Given the description of an element on the screen output the (x, y) to click on. 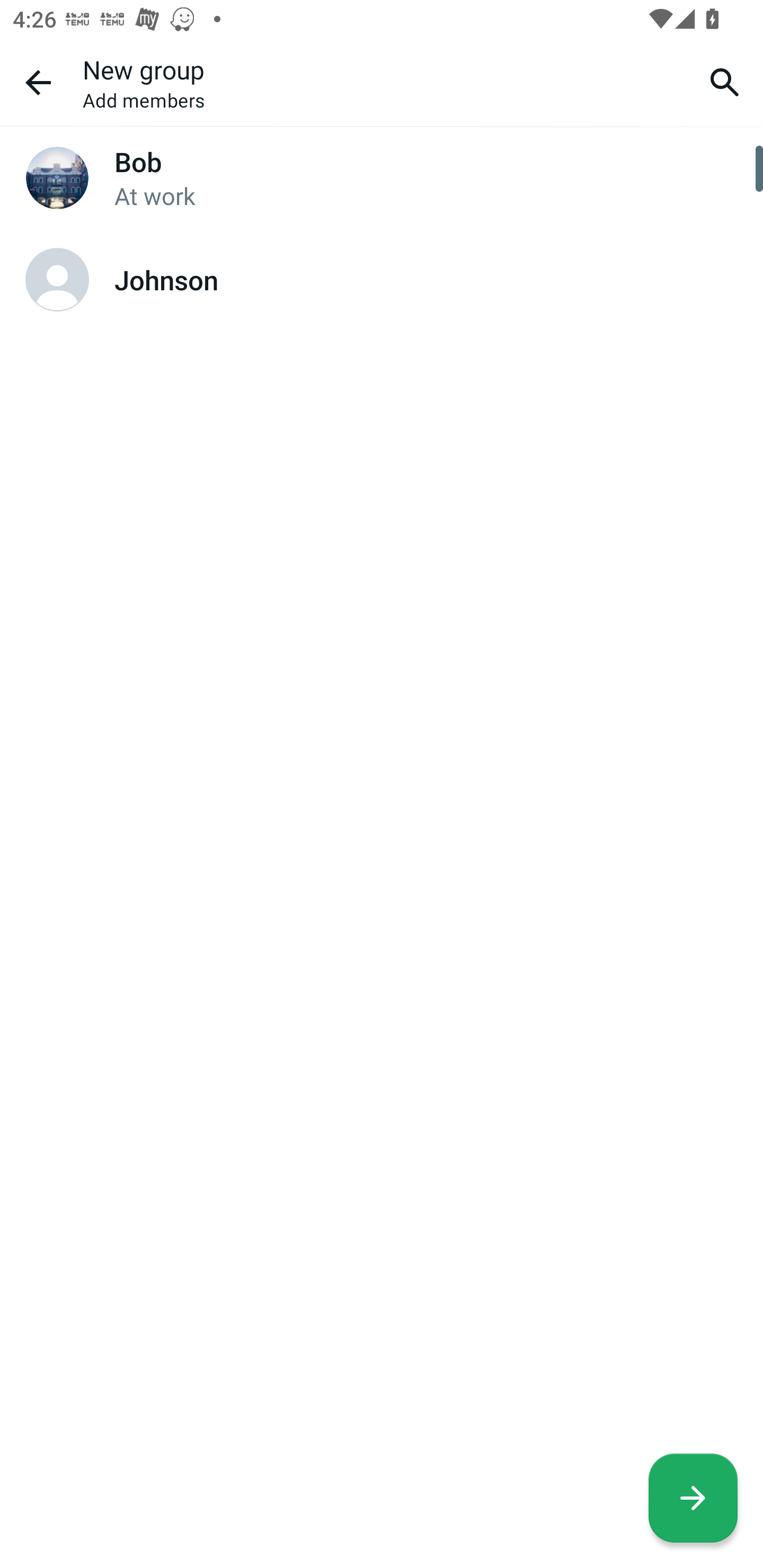
Navigate up (38, 82)
Search (724, 81)
Bob Bob ‎At work (381, 177)
Johnson (381, 279)
Next (692, 1497)
